Given the description of an element on the screen output the (x, y) to click on. 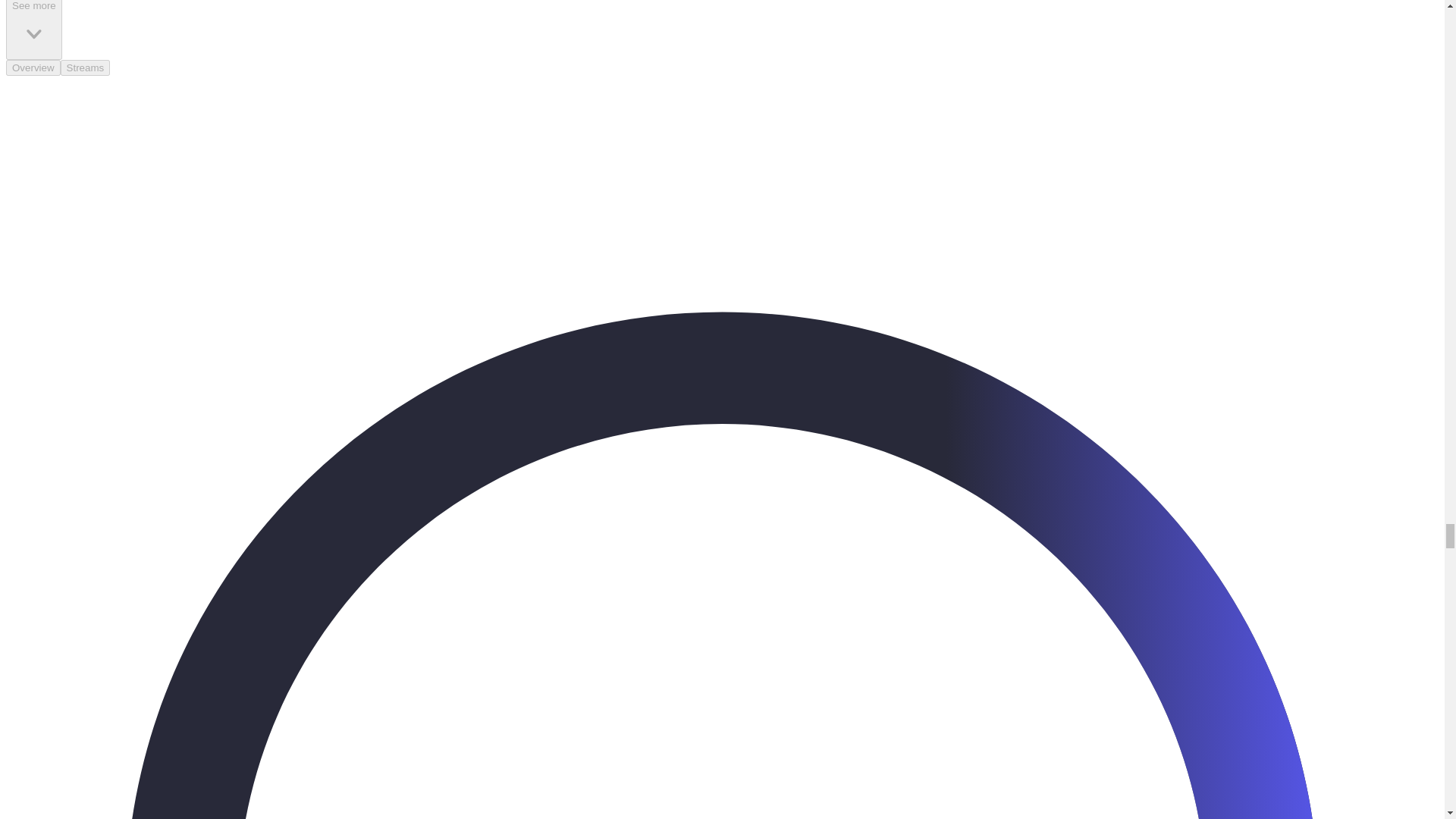
See more (33, 29)
Overview (33, 67)
Streams (85, 67)
